Given the description of an element on the screen output the (x, y) to click on. 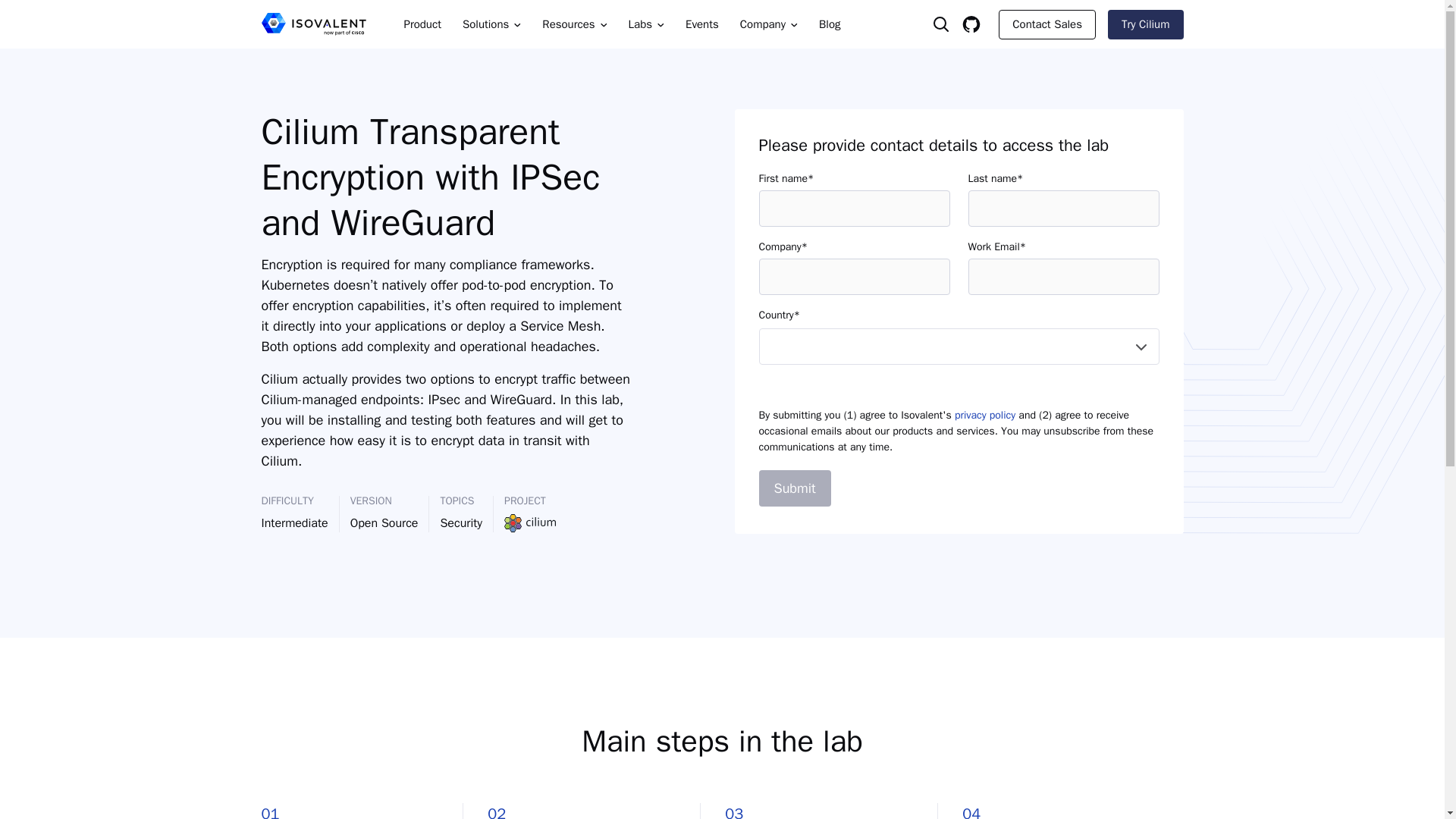
Resources (574, 24)
open search (941, 24)
Contact Sales (1047, 23)
Submit  (793, 488)
Isovalent Logo (317, 24)
Submit  (793, 488)
privacy policy (984, 414)
GitHub (970, 24)
Labs (646, 24)
Company (768, 24)
